Given the description of an element on the screen output the (x, y) to click on. 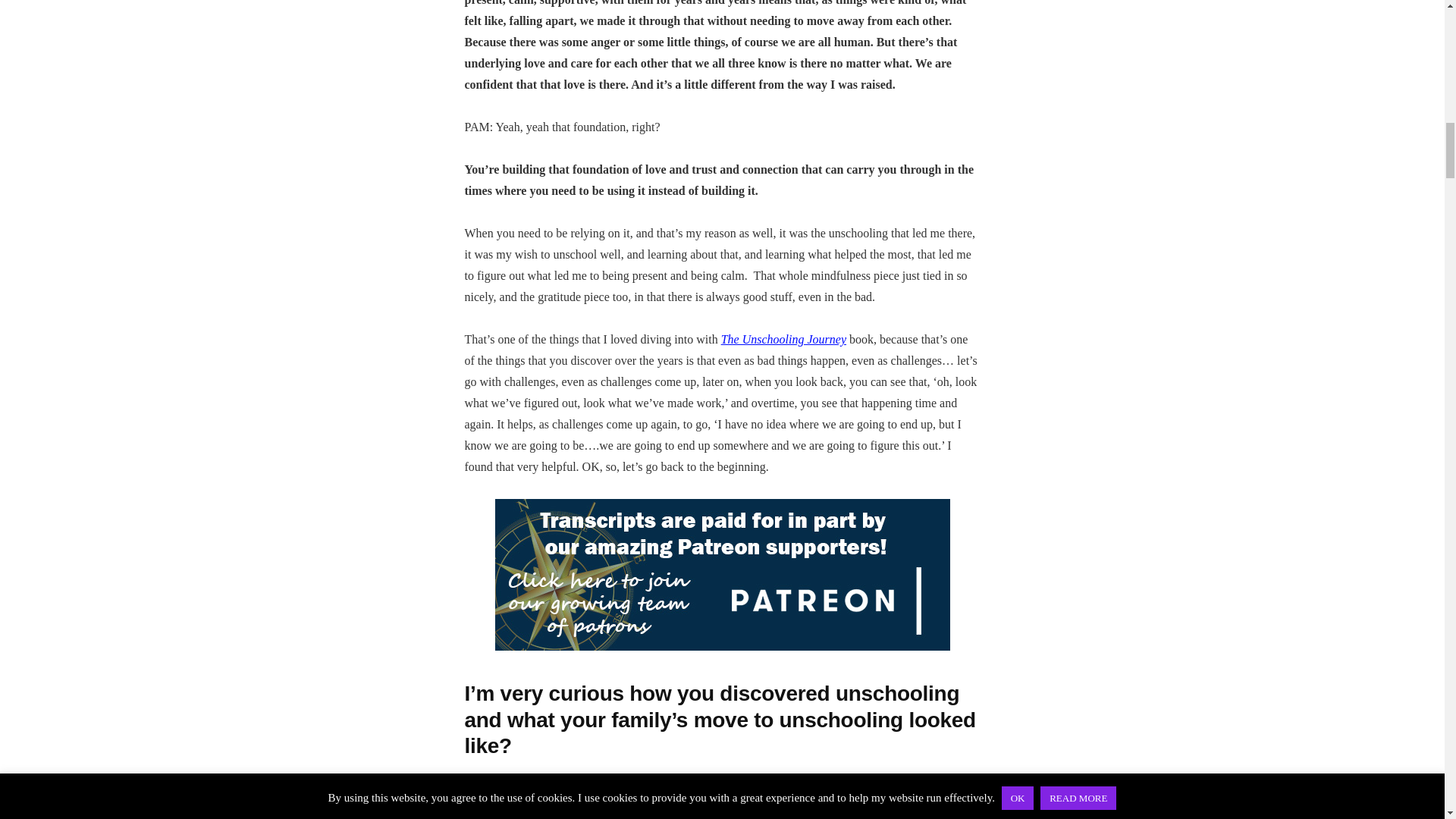
The Unschooling Journey (782, 338)
